Given the description of an element on the screen output the (x, y) to click on. 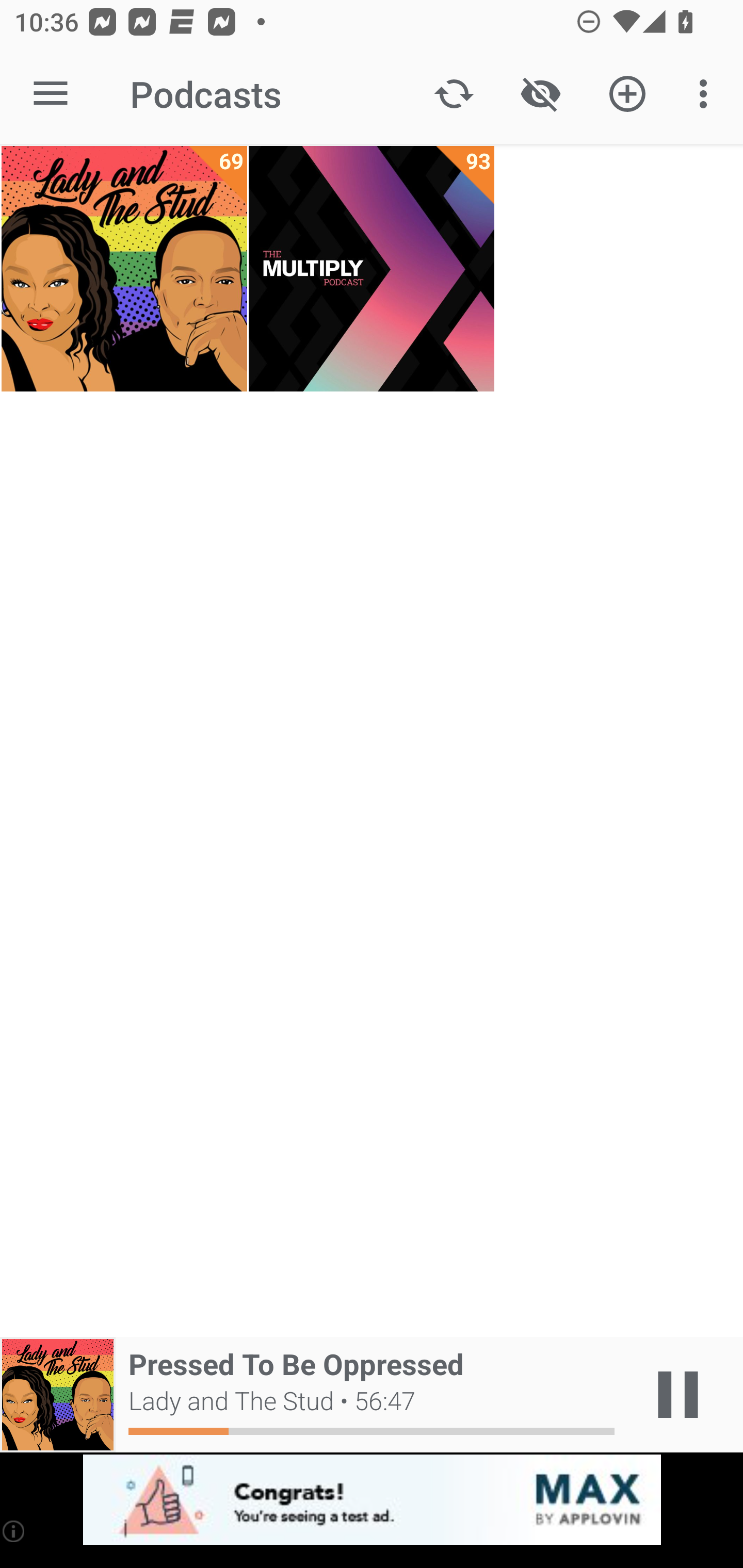
Open navigation sidebar (50, 93)
Update (453, 93)
Show / Hide played content (540, 93)
Add new Podcast (626, 93)
More options (706, 93)
Lady and The Stud 69 (124, 268)
The Multiply Podcast 93 (371, 268)
Play / Pause (677, 1394)
app-monetization (371, 1500)
(i) (14, 1531)
